Given the description of an element on the screen output the (x, y) to click on. 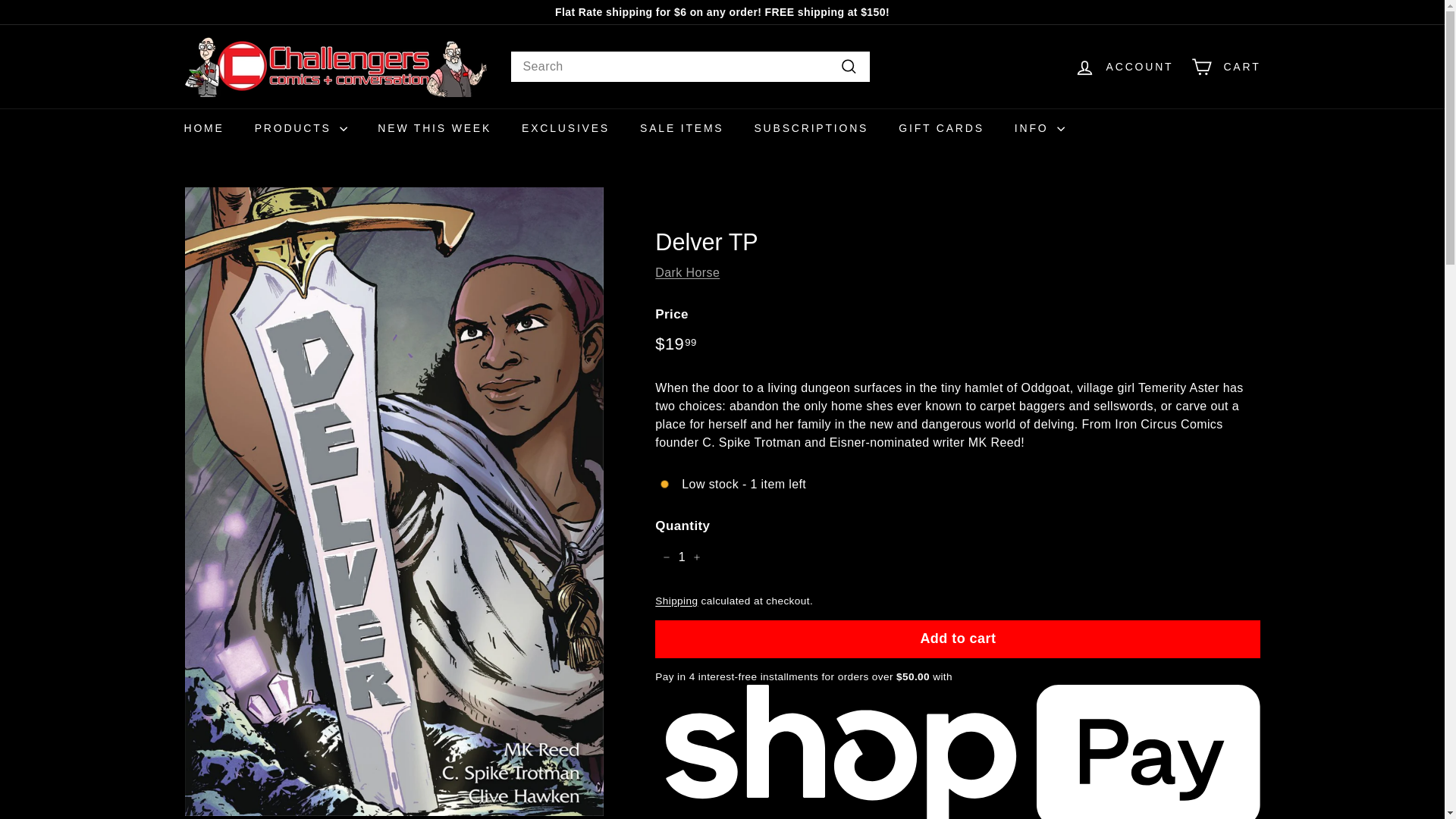
CART (1225, 66)
Dark Horse (687, 272)
ACCOUNT (1123, 66)
HOME (203, 128)
1 (681, 556)
